Given the description of an element on the screen output the (x, y) to click on. 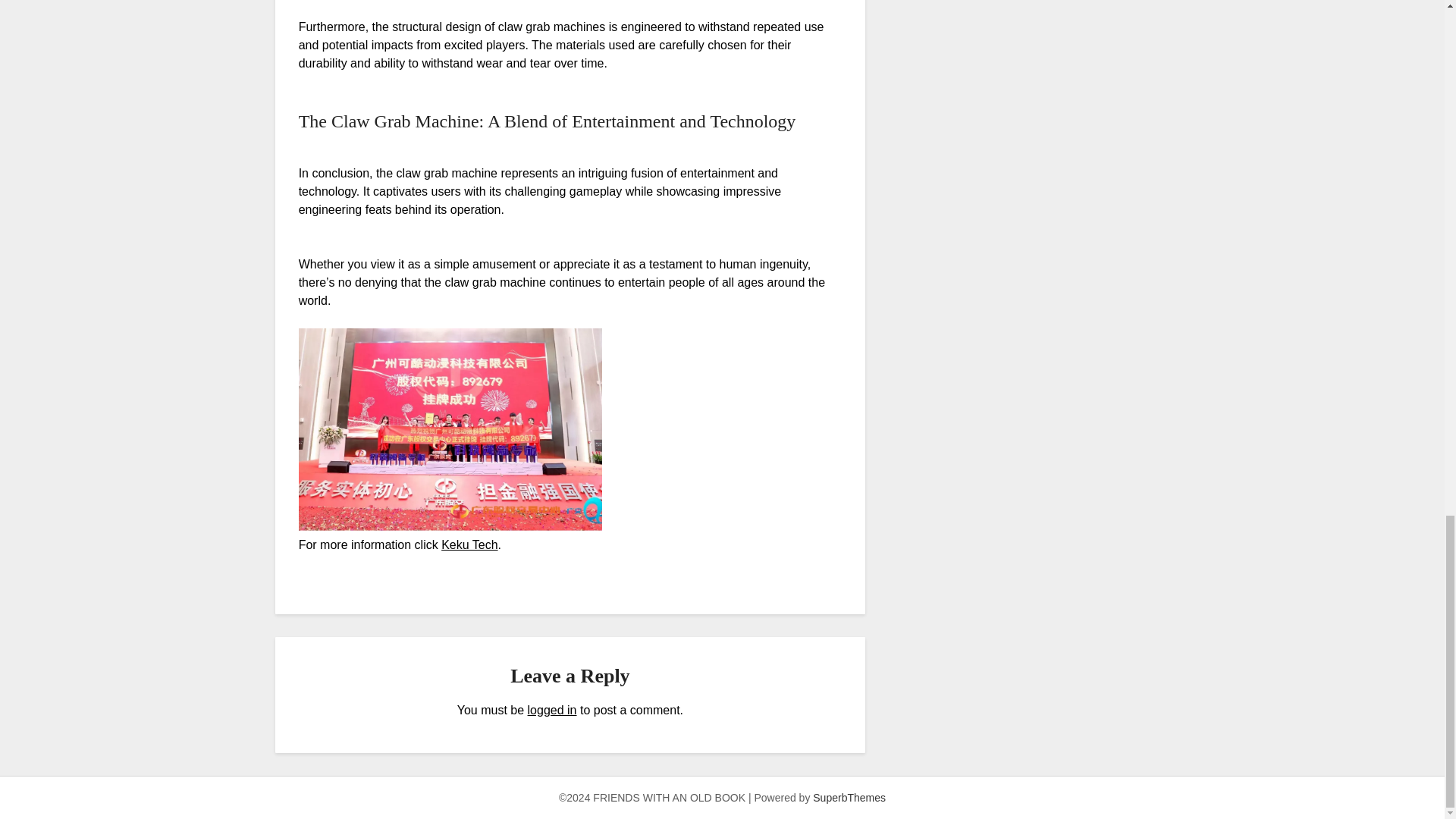
Keku Tech (469, 544)
logged in (551, 709)
SuperbThemes (848, 797)
